Given the description of an element on the screen output the (x, y) to click on. 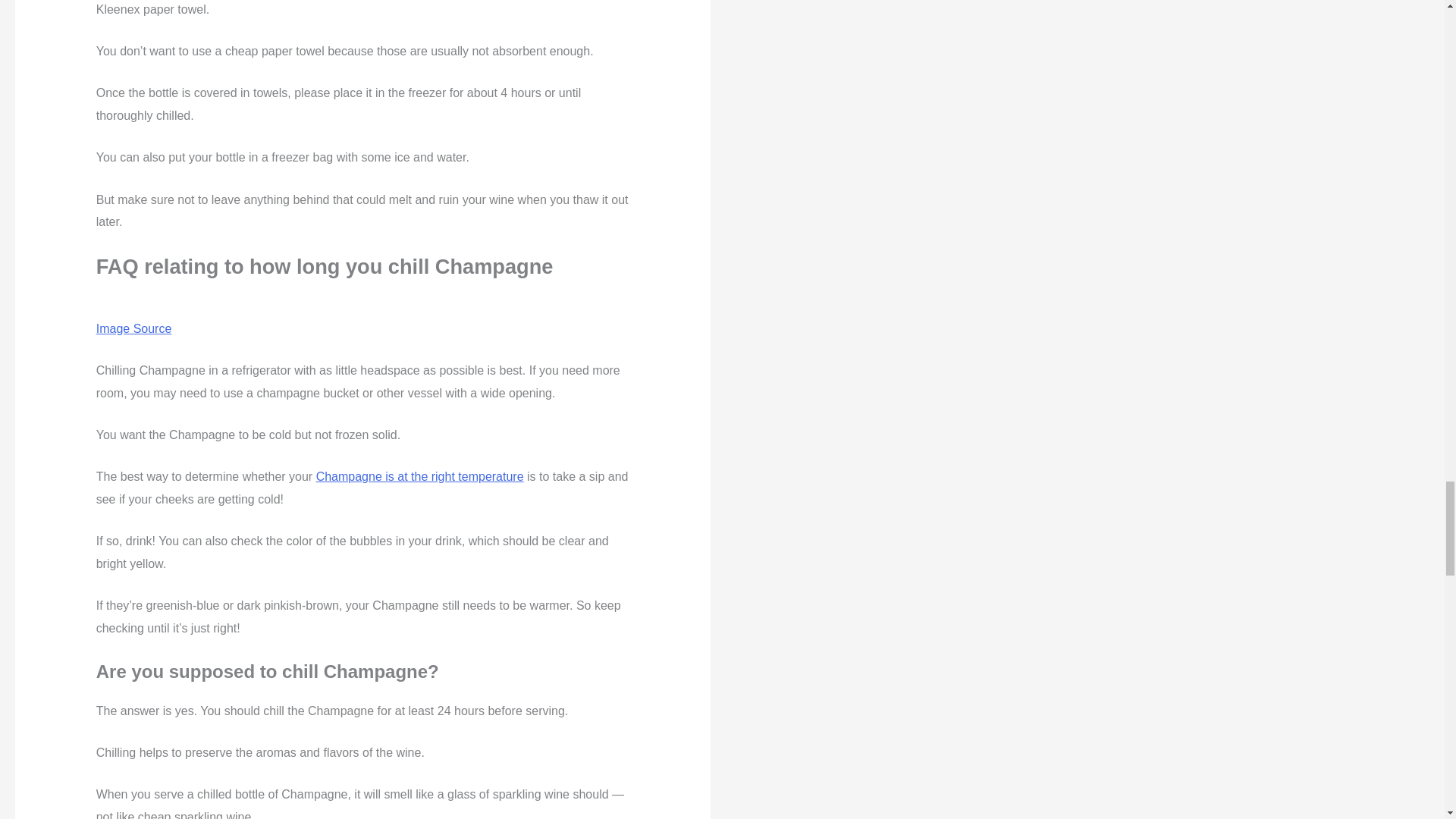
Champagne is at the right temperature (419, 476)
Image Source (133, 328)
